Given the description of an element on the screen output the (x, y) to click on. 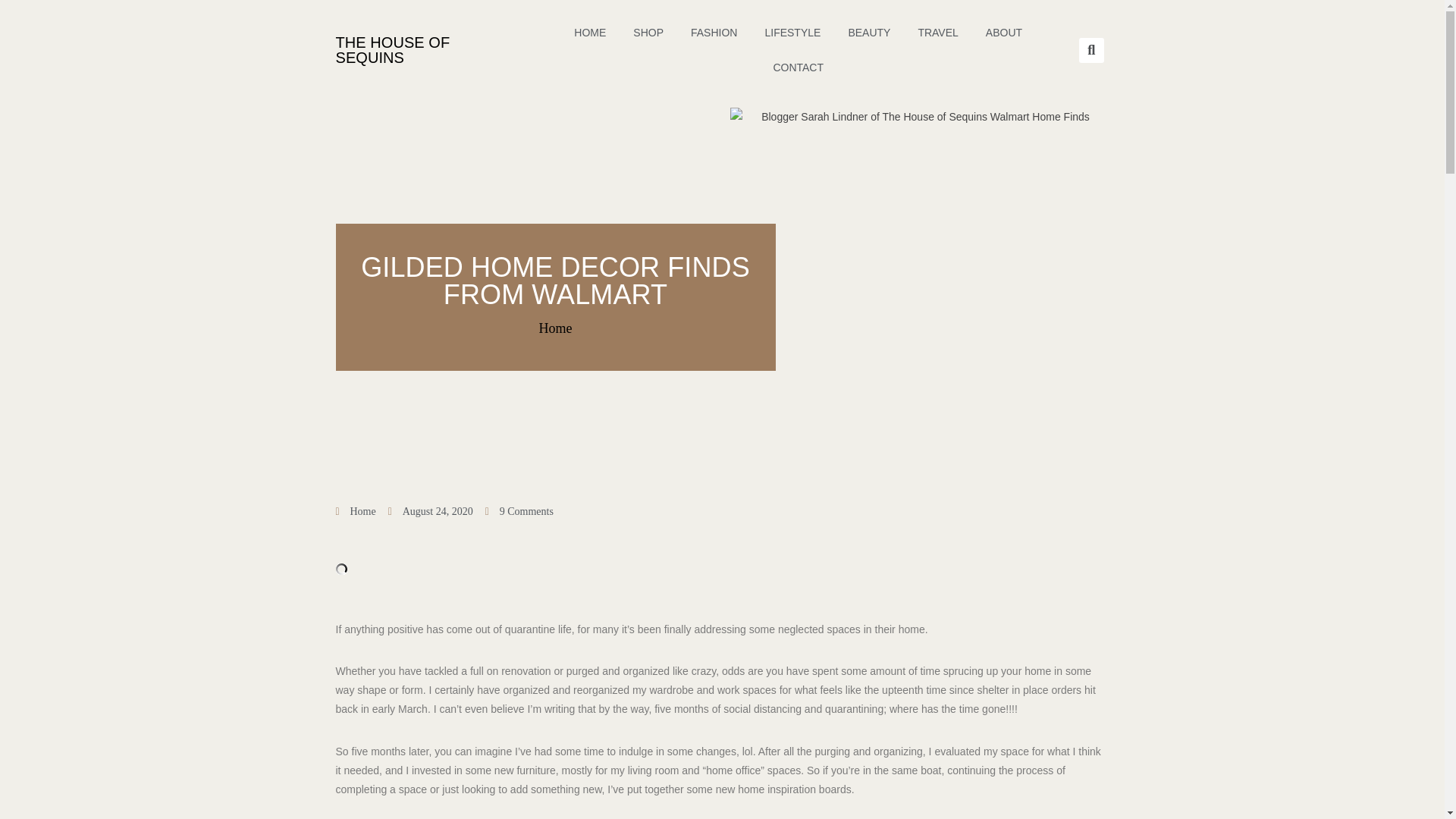
HOME (590, 32)
SHOP (648, 32)
CONTACT (797, 67)
BEAUTY (869, 32)
TRAVEL (937, 32)
Home (362, 511)
August 24, 2020 (430, 511)
Home (555, 328)
ABOUT (1003, 32)
FASHION (714, 32)
9 Comments (518, 511)
LIFESTYLE (792, 32)
THE HOUSE OF SEQUINS (391, 50)
